Given the description of an element on the screen output the (x, y) to click on. 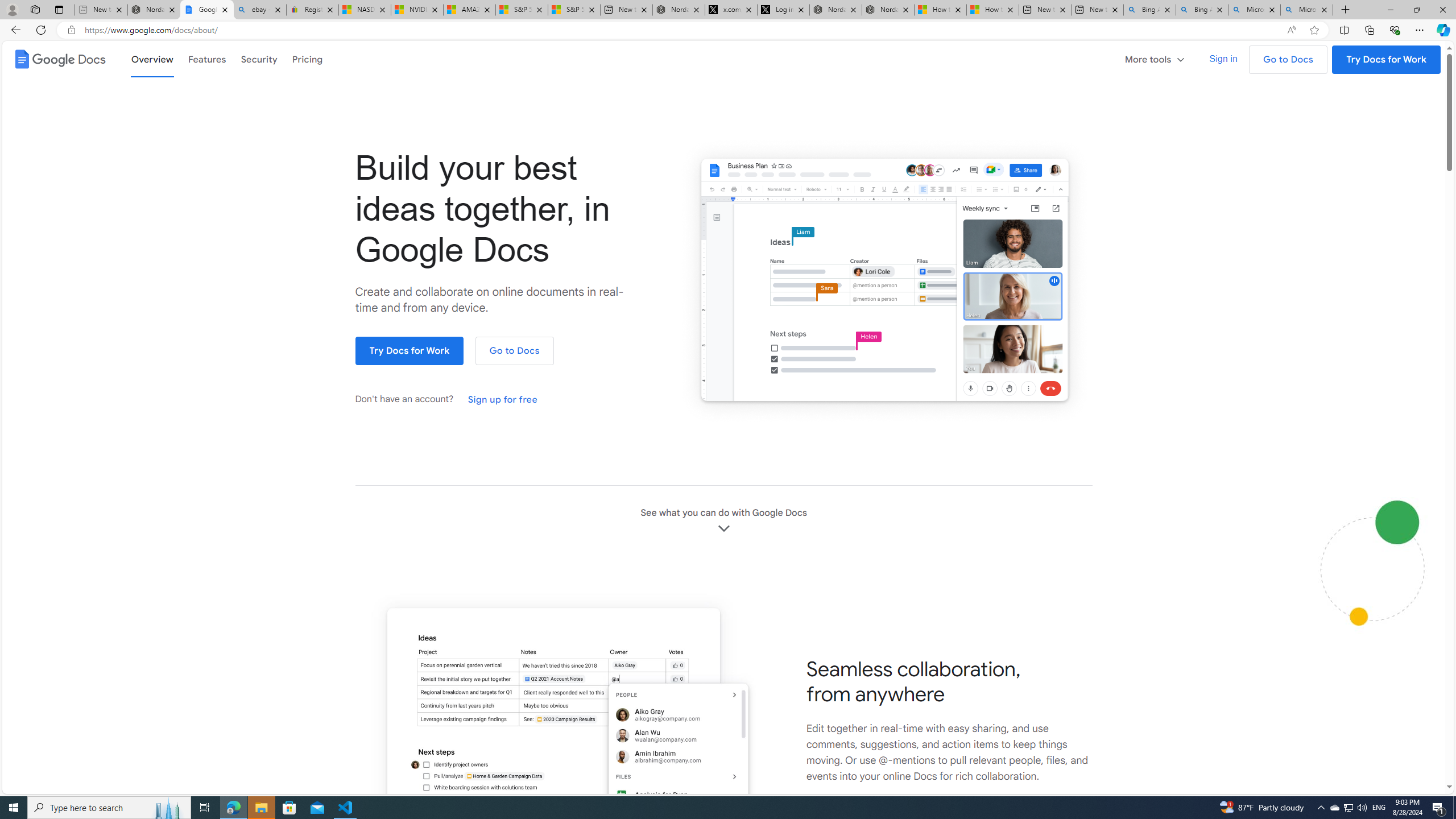
Microsoft Bing Timeline - Search (1306, 9)
docs icon (21, 59)
More tools (1159, 58)
Sign up for free (503, 399)
Pricing (306, 58)
Security (258, 58)
Google Docs: Online Document Editor | Google Workspace (207, 9)
